Given the description of an element on the screen output the (x, y) to click on. 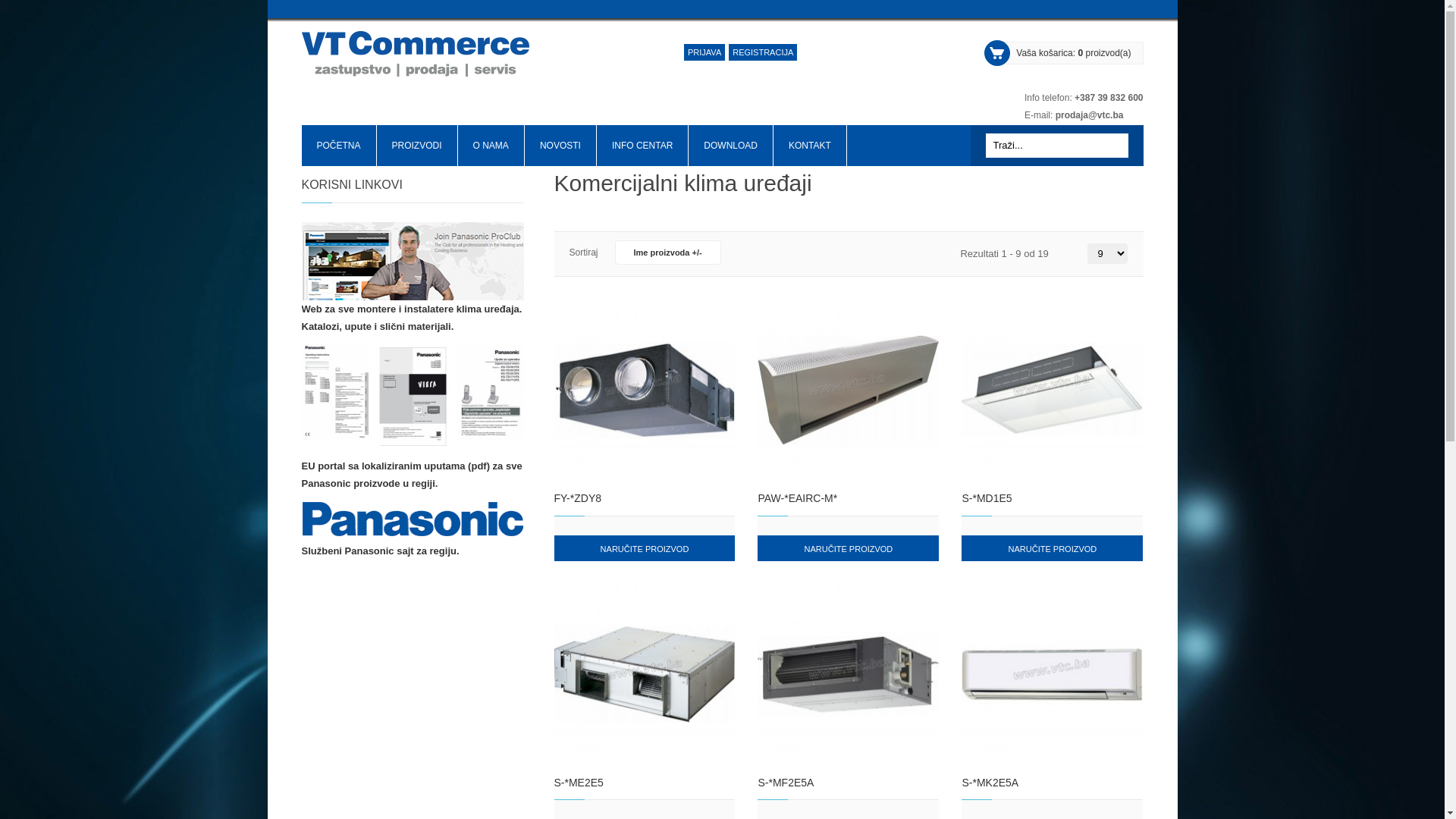
Panasonic Element type: hover (412, 521)
S-*MF2E5A Element type: text (847, 788)
FY-*ZDY8 Element type: hover (643, 389)
FY-*ZDY8 Element type: text (643, 504)
S-*MK2E5A Element type: text (1051, 788)
PRIJAVA Element type: text (704, 51)
S-*MD1E5 Element type: hover (1051, 389)
VT Commerce d.o.o. Element type: hover (415, 61)
DOWNLOAD Element type: text (730, 145)
S-*MF2E5A Element type: hover (847, 674)
PAW-*EAIRC-M* Element type: text (847, 504)
INFO CENTAR Element type: text (641, 145)
REGISTRACIJA Element type: text (762, 51)
O NAMA Element type: text (491, 145)
Panasonic pro club Element type: hover (412, 257)
NOVOSTI Element type: text (560, 145)
PROIZVODI Element type: text (416, 145)
S-*ME2E5 Element type: hover (643, 674)
S-*MK2E5A Element type: hover (1051, 674)
S-*ME2E5 Element type: text (643, 788)
PAW-*EAIRC-M* Element type: hover (847, 389)
S-*MD1E5 Element type: text (1051, 504)
Ime proizvoda +/- Element type: text (667, 252)
Upute Element type: hover (412, 396)
KONTAKT Element type: text (809, 145)
